Given the description of an element on the screen output the (x, y) to click on. 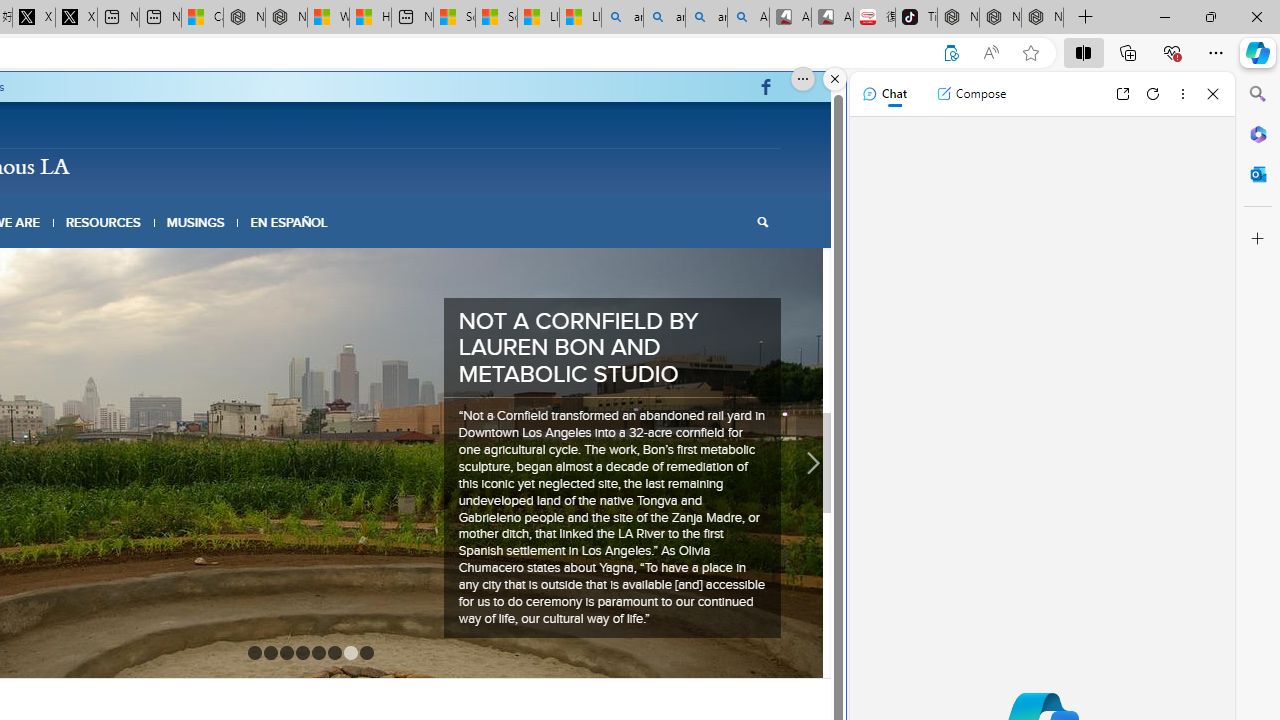
Nordace - Siena Pro 15 Essential Set (1042, 17)
2 (269, 564)
Compose (971, 93)
Huge shark washes ashore at New York City beach | Watch (369, 17)
MUSINGS (195, 222)
